Given the description of an element on the screen output the (x, y) to click on. 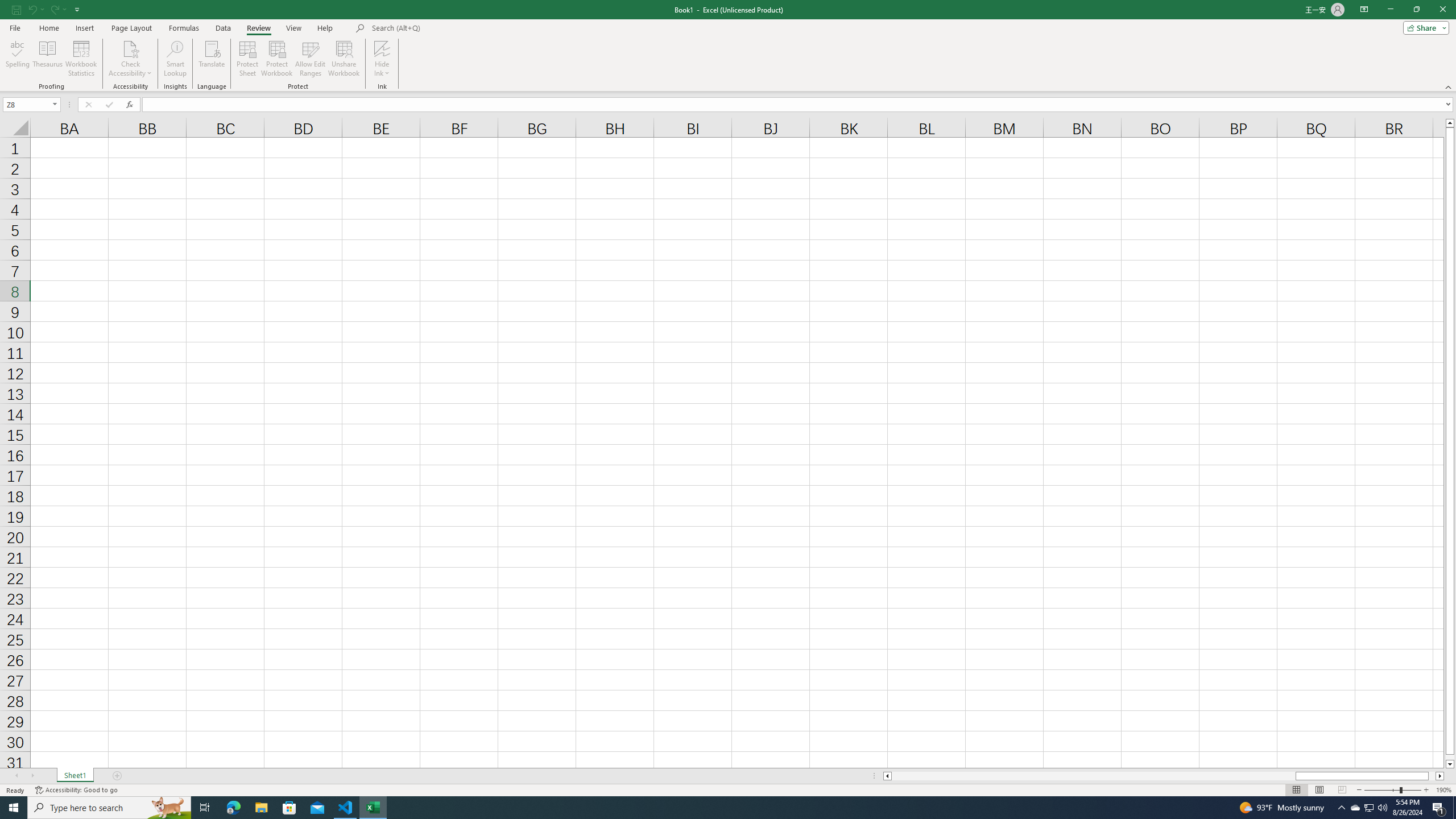
Unshare Workbook (344, 58)
Allow Edit Ranges (310, 58)
